Given the description of an element on the screen output the (x, y) to click on. 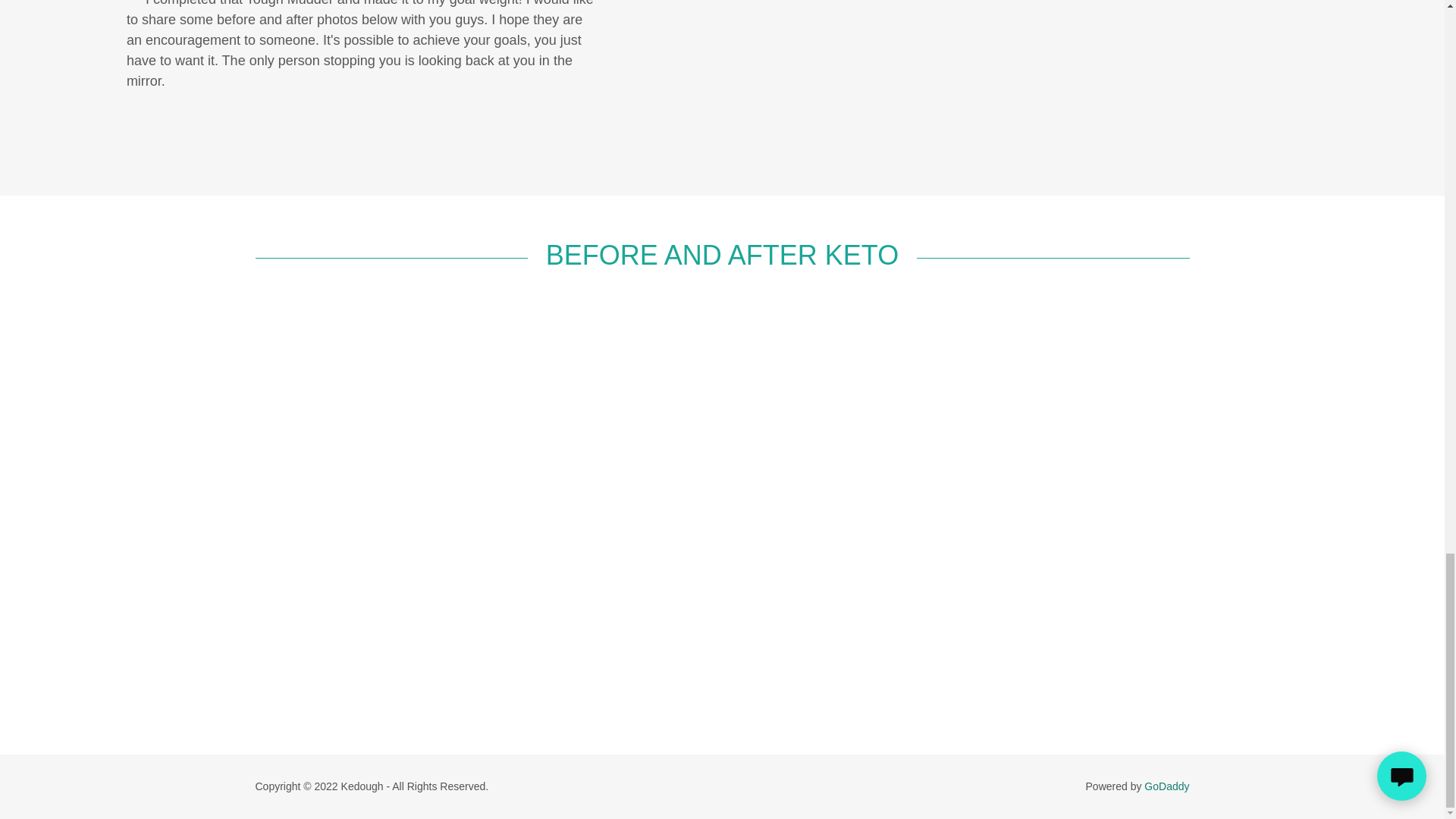
GoDaddy (1166, 786)
